Given the description of an element on the screen output the (x, y) to click on. 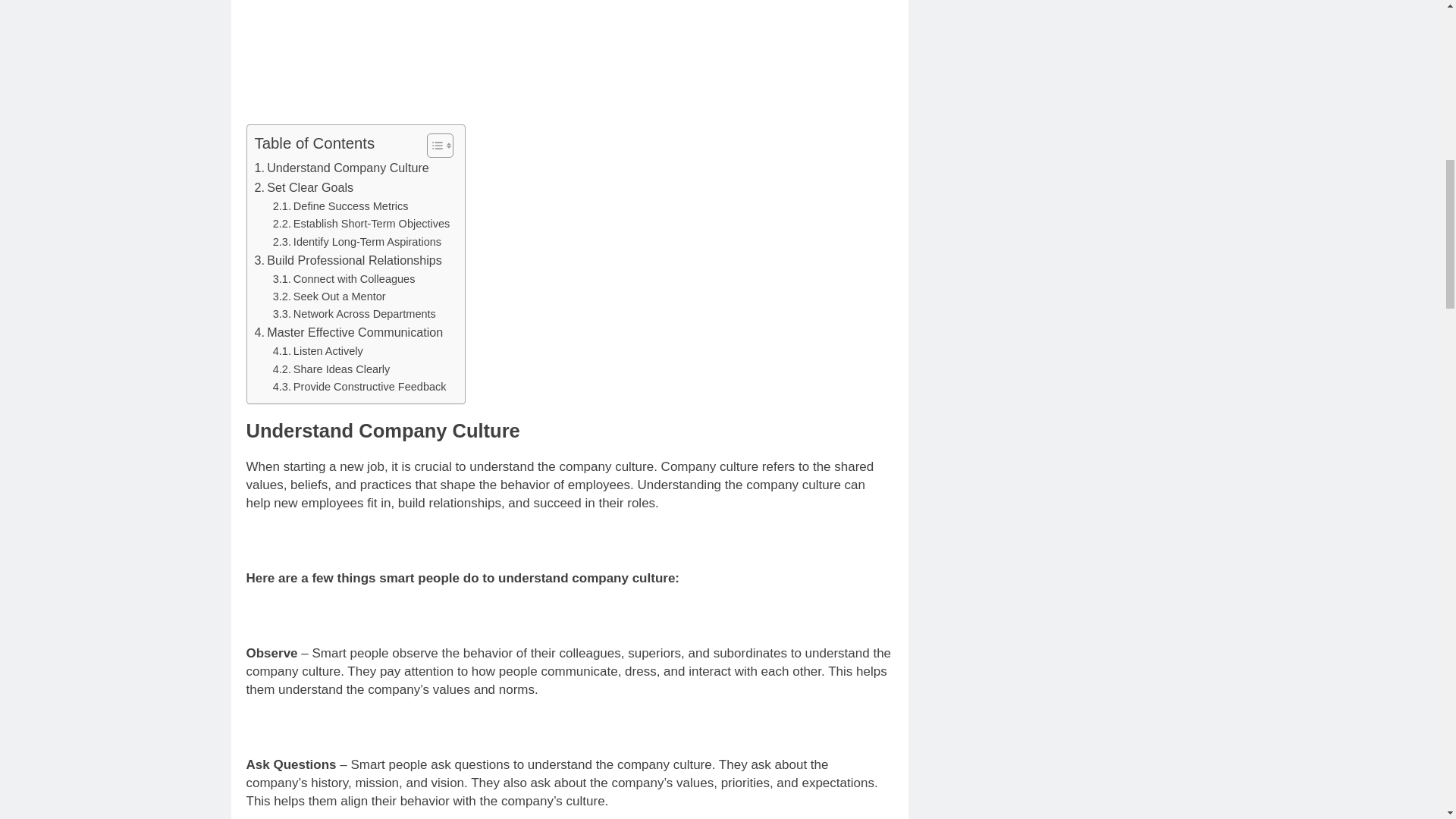
Define Success Metrics (341, 206)
Set Clear Goals (303, 188)
Understand Company Culture (341, 168)
